Given the description of an element on the screen output the (x, y) to click on. 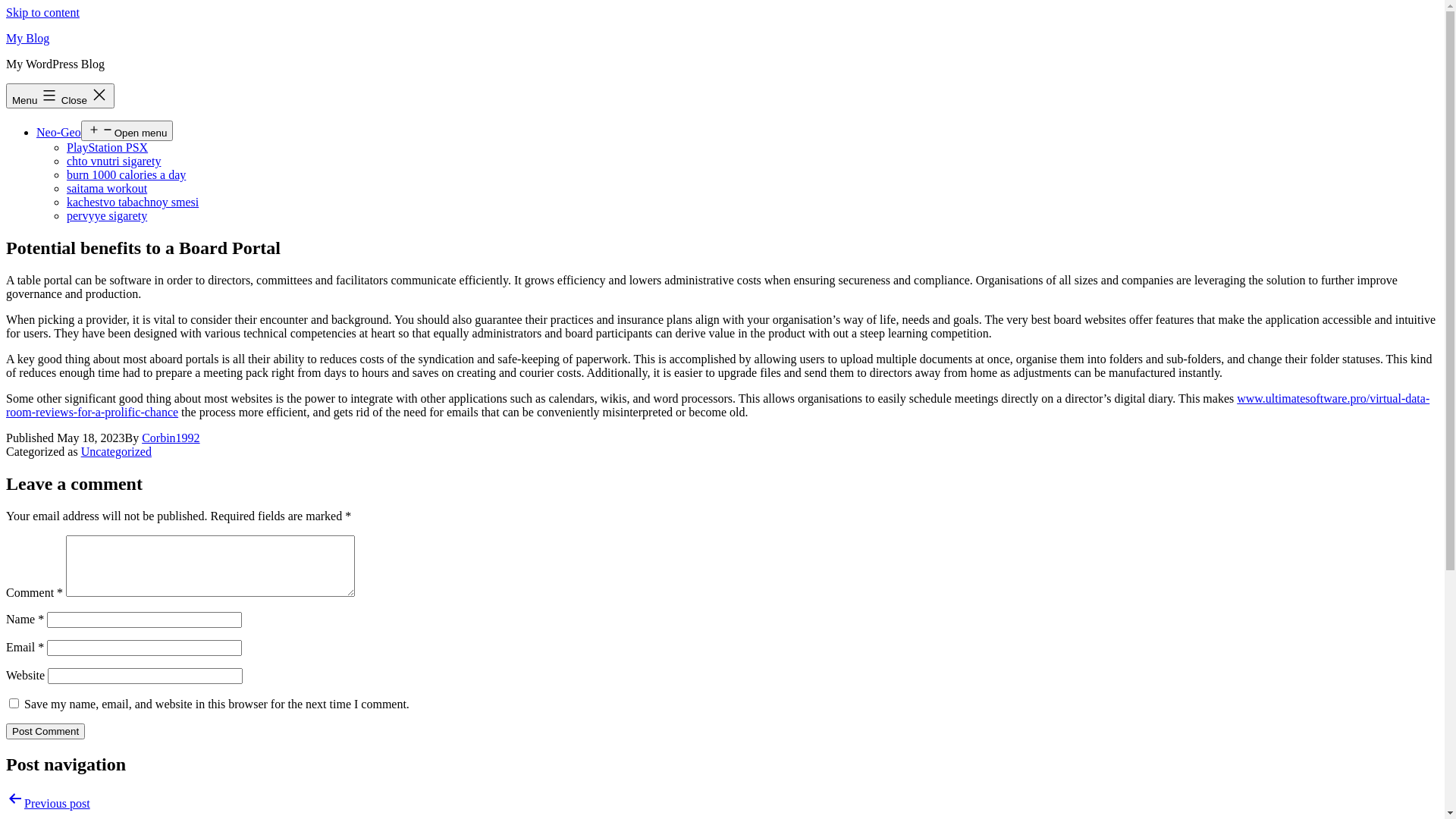
burn 1000 calories a day Element type: text (125, 174)
Post Comment Element type: text (45, 731)
Open menu Element type: text (127, 130)
Uncategorized Element type: text (116, 451)
Corbin1992 Element type: text (170, 437)
My Blog Element type: text (27, 37)
chto vnutri sigarety Element type: text (113, 160)
Skip to content Element type: text (42, 12)
pervyye sigarety Element type: text (106, 215)
Menu Close Element type: text (60, 95)
saitama workout Element type: text (106, 188)
kachestvo tabachnoy smesi Element type: text (132, 201)
Neo-Geo Element type: text (58, 131)
PlayStation PSX Element type: text (106, 147)
